Given the description of an element on the screen output the (x, y) to click on. 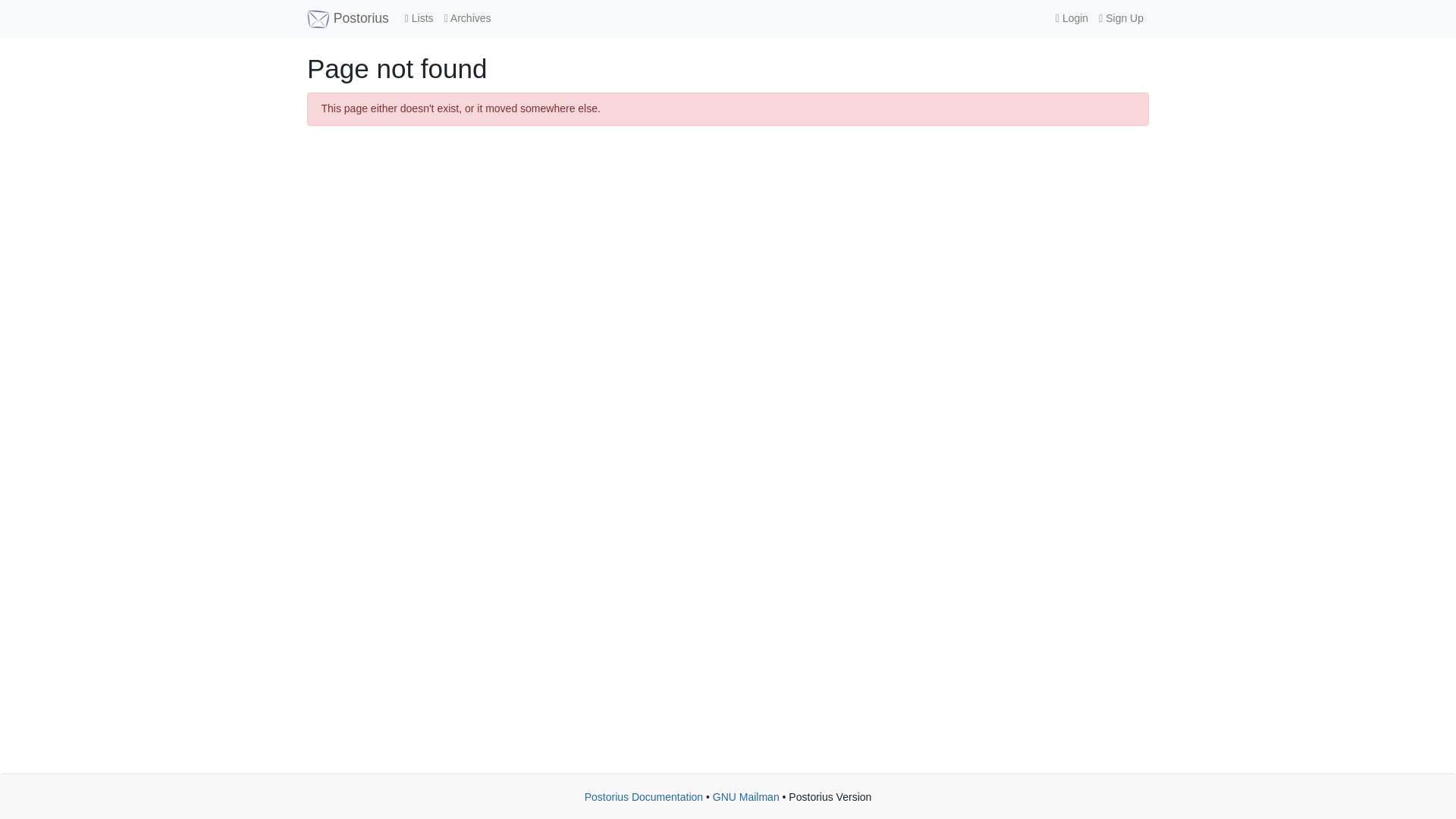
Lists (418, 17)
Archives (467, 17)
Sign Up (1120, 17)
Postorius (347, 18)
Login (1071, 17)
